Given the description of an element on the screen output the (x, y) to click on. 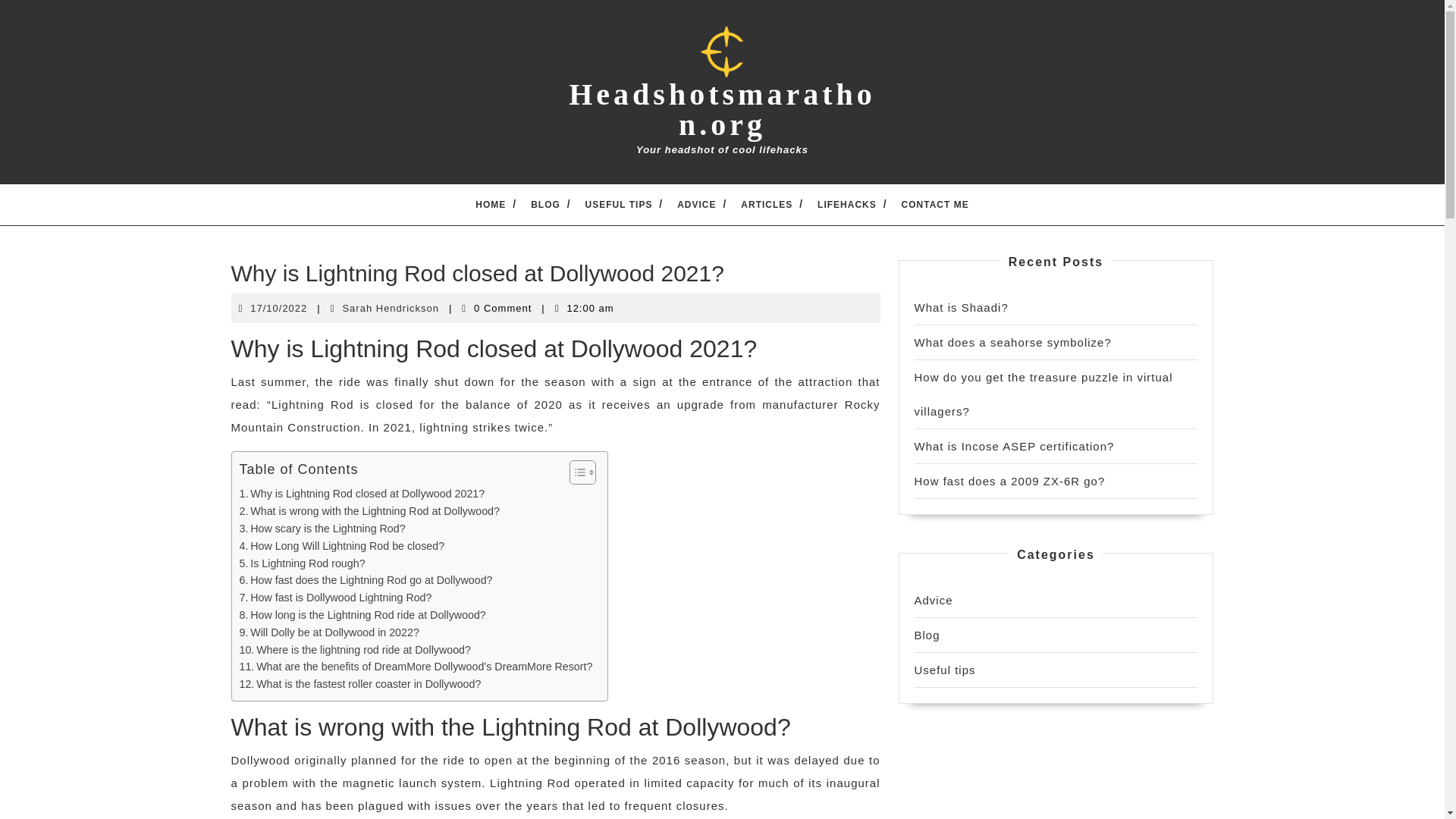
What is wrong with the Lightning Rod at Dollywood? (369, 511)
USEFUL TIPS (618, 203)
Is Lightning Rod rough? (302, 563)
How long is the Lightning Rod ride at Dollywood? (363, 615)
CONTACT ME (935, 203)
BLOG (545, 203)
What is wrong with the Lightning Rod at Dollywood? (369, 511)
Will Dolly be at Dollywood in 2022? (329, 632)
How fast does the Lightning Rod go at Dollywood? (366, 579)
How fast is Dollywood Lightning Rod? (336, 597)
